Given the description of an element on the screen output the (x, y) to click on. 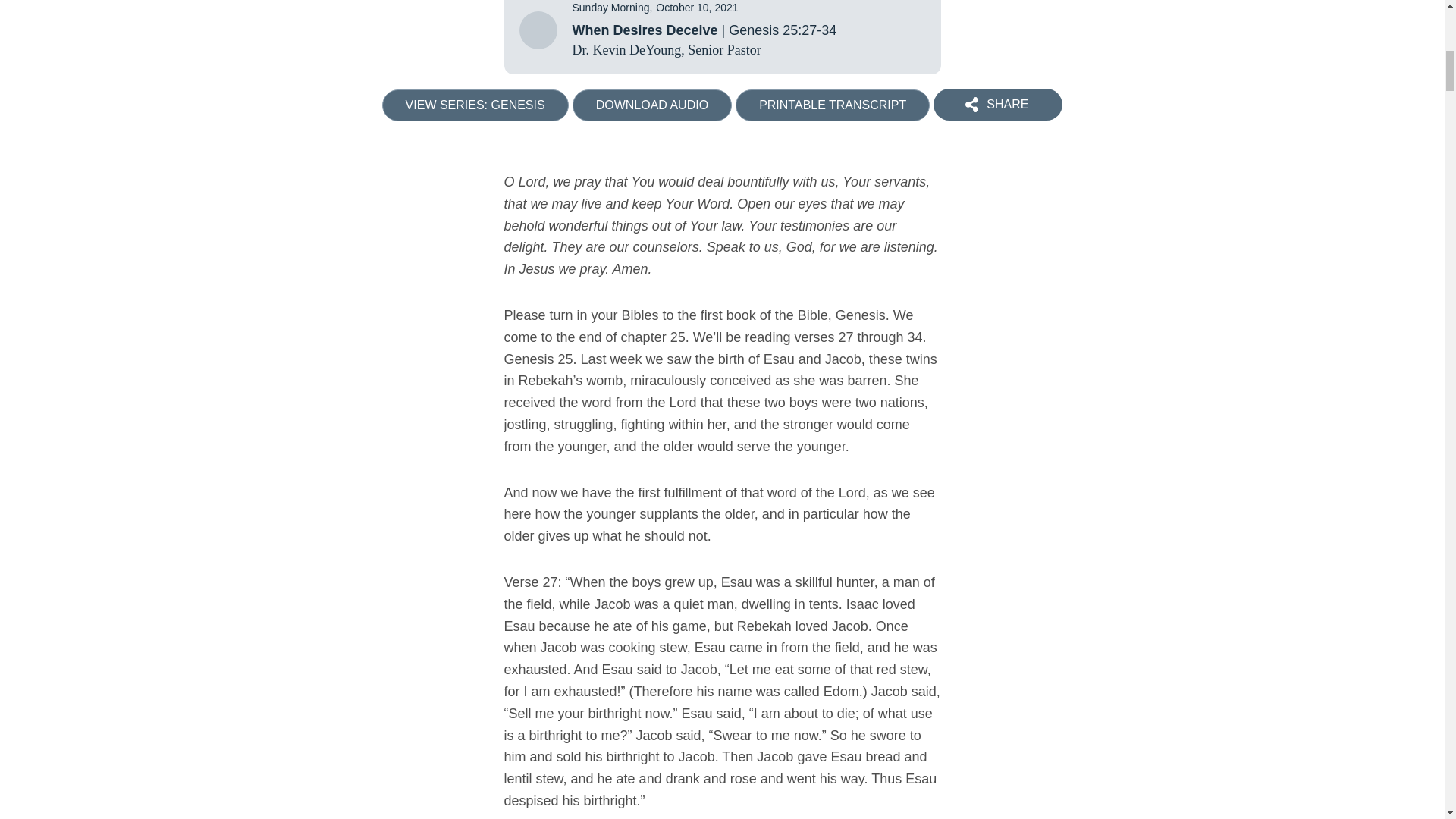
VIEW SERIES: GENESIS (475, 105)
SHARE (997, 104)
PRINTABLE TRANSCRIPT (832, 105)
DOWNLOAD AUDIO (652, 105)
